Given the description of an element on the screen output the (x, y) to click on. 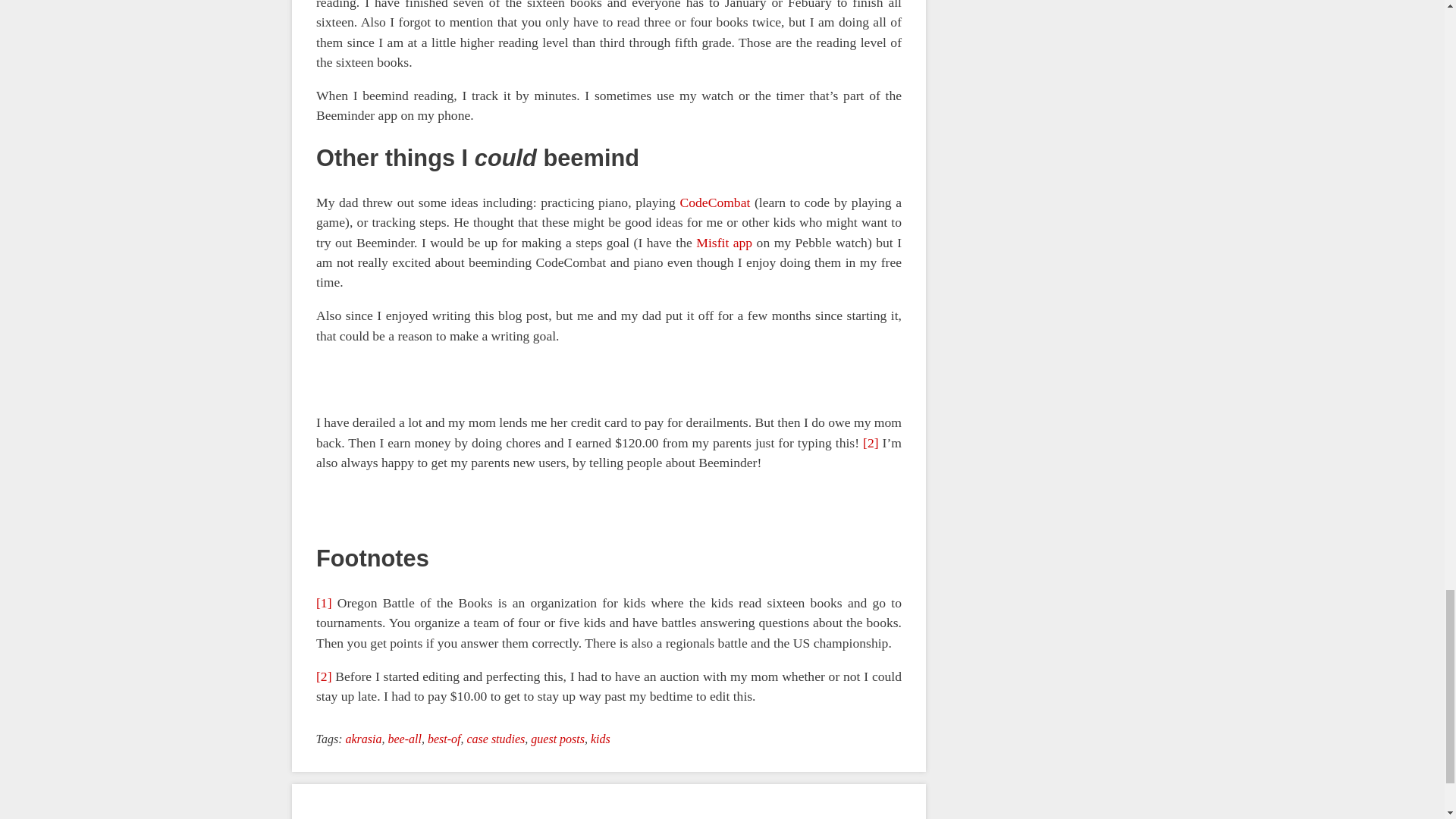
best-of (444, 739)
bee-all (403, 739)
case studies (494, 739)
Misfit app (723, 242)
guest posts (558, 739)
kids (600, 739)
CodeCombat (714, 201)
akrasia (363, 739)
